Given the description of an element on the screen output the (x, y) to click on. 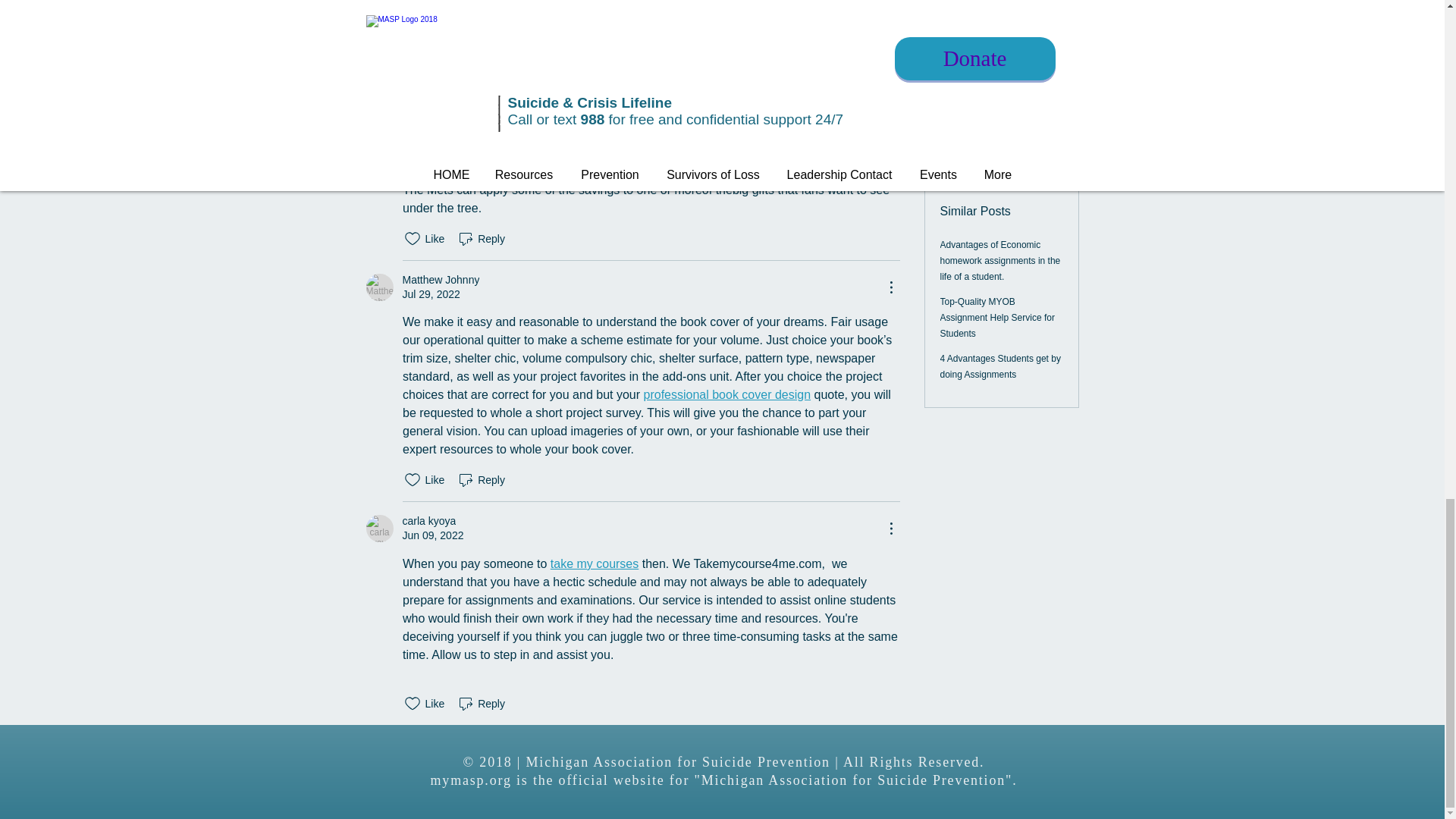
Matthew Johnny (440, 279)
Reply (481, 239)
Matthew Johnny (379, 287)
William Perry Jersey (634, 89)
Pat O'Donnell Jersey (666, 62)
carla kyoya (379, 528)
